Given the description of an element on the screen output the (x, y) to click on. 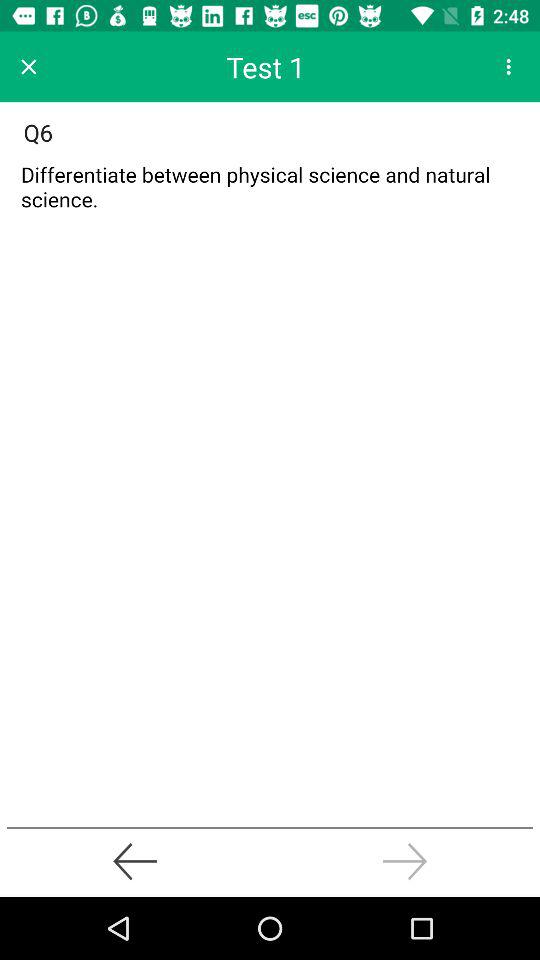
more options turned on (508, 66)
